Given the description of an element on the screen output the (x, y) to click on. 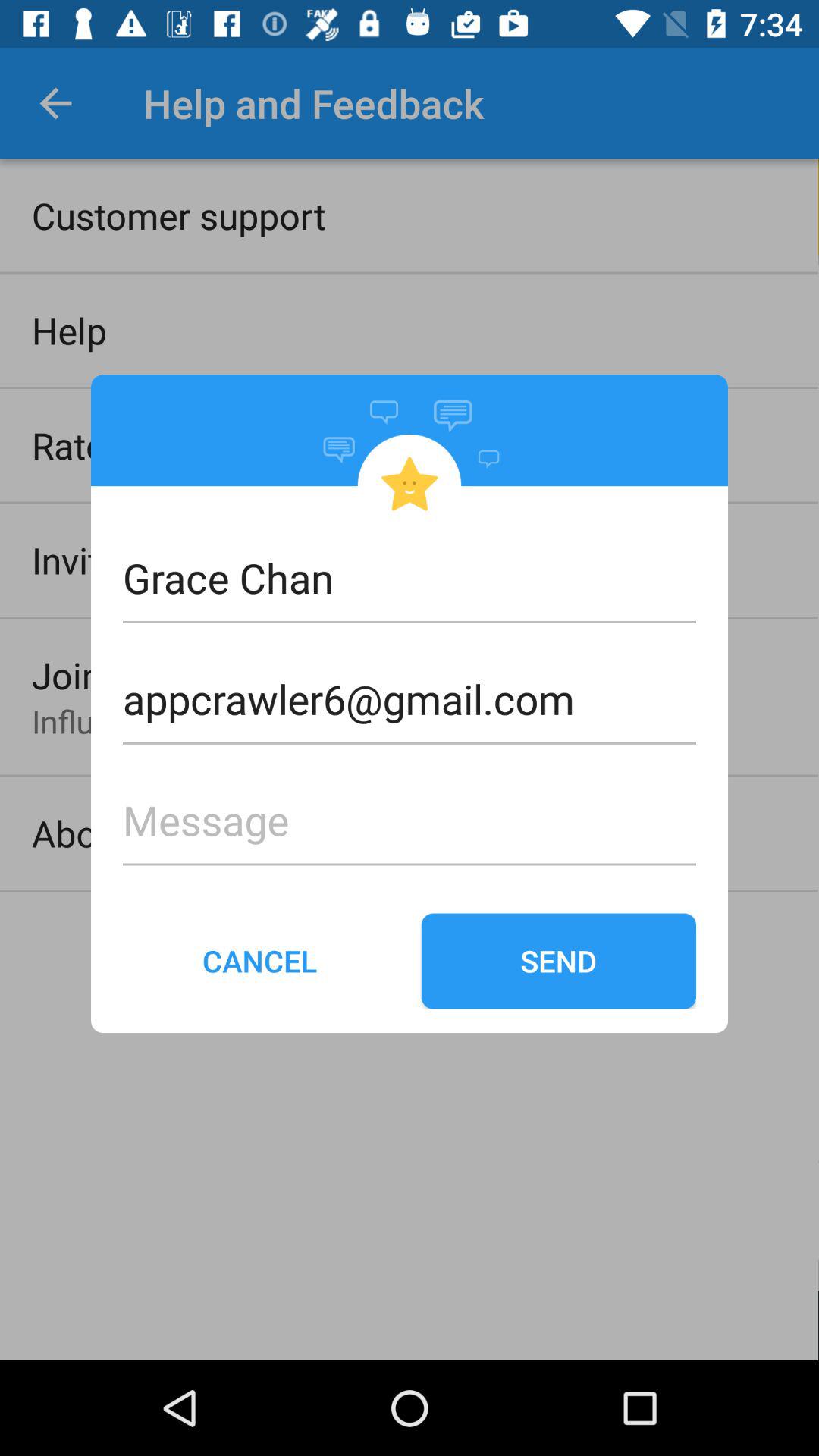
press send (558, 960)
